Given the description of an element on the screen output the (x, y) to click on. 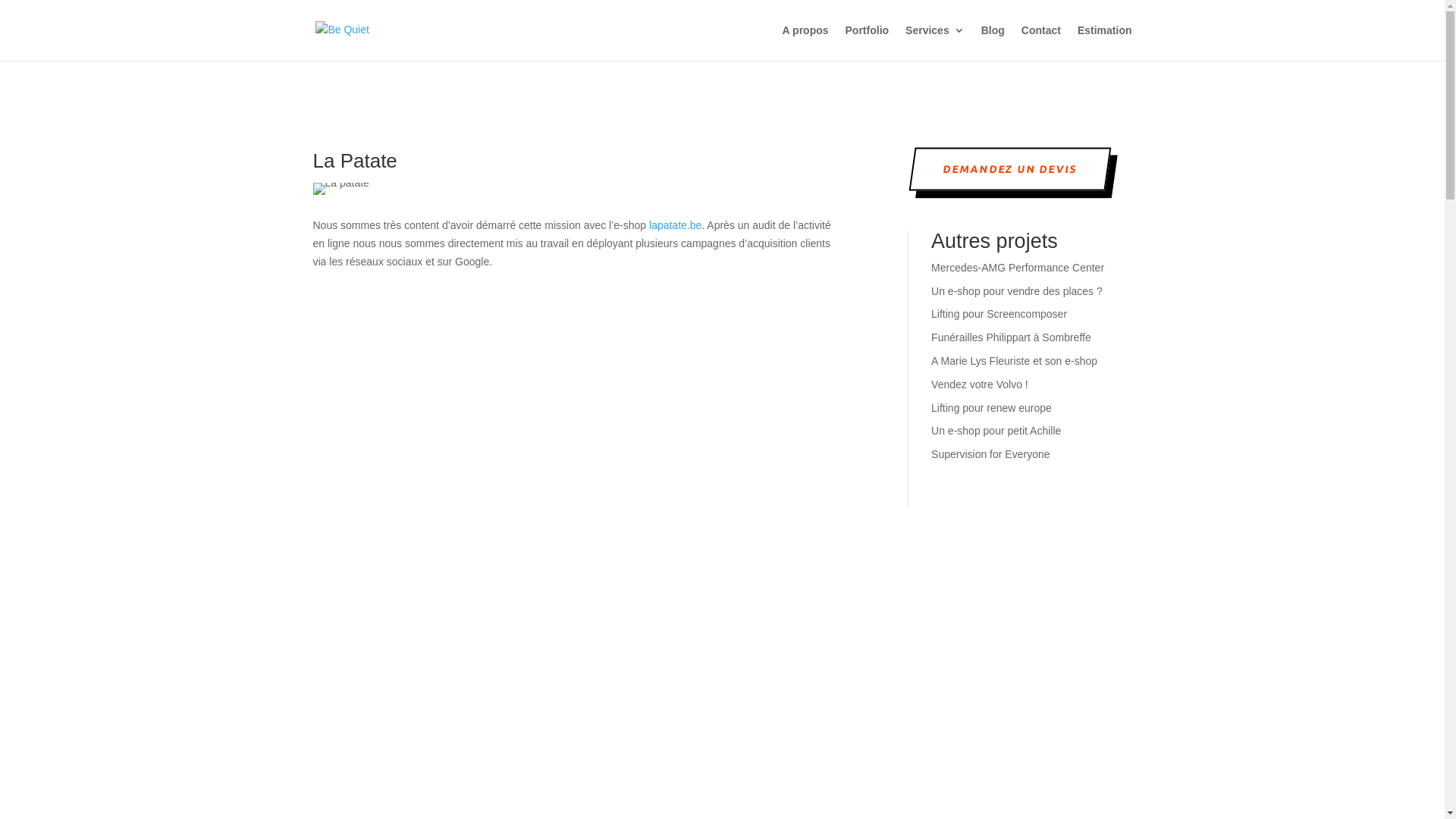
Portfolio Element type: text (867, 42)
Un e-shop pour petit Achille Element type: text (995, 430)
Contact Element type: text (1040, 42)
Estimation Element type: text (1104, 42)
lapatate.be Element type: text (675, 225)
DEMANDEZ UN DEVIS Element type: text (1009, 169)
Vendez votre Volvo ! Element type: text (979, 384)
A propos Element type: text (805, 42)
Lifting pour renew europe Element type: text (991, 407)
la-patate-2021 Element type: hover (340, 188)
Supervision for Everyone Element type: text (990, 454)
Mercedes-AMG Performance Center Element type: text (1017, 267)
Lifting pour Screencomposer Element type: text (998, 313)
Un e-shop pour vendre des places ? Element type: text (1016, 291)
Blog Element type: text (992, 42)
A Marie Lys Fleuriste et son e-shop Element type: text (1014, 360)
Services Element type: text (934, 42)
